Given the description of an element on the screen output the (x, y) to click on. 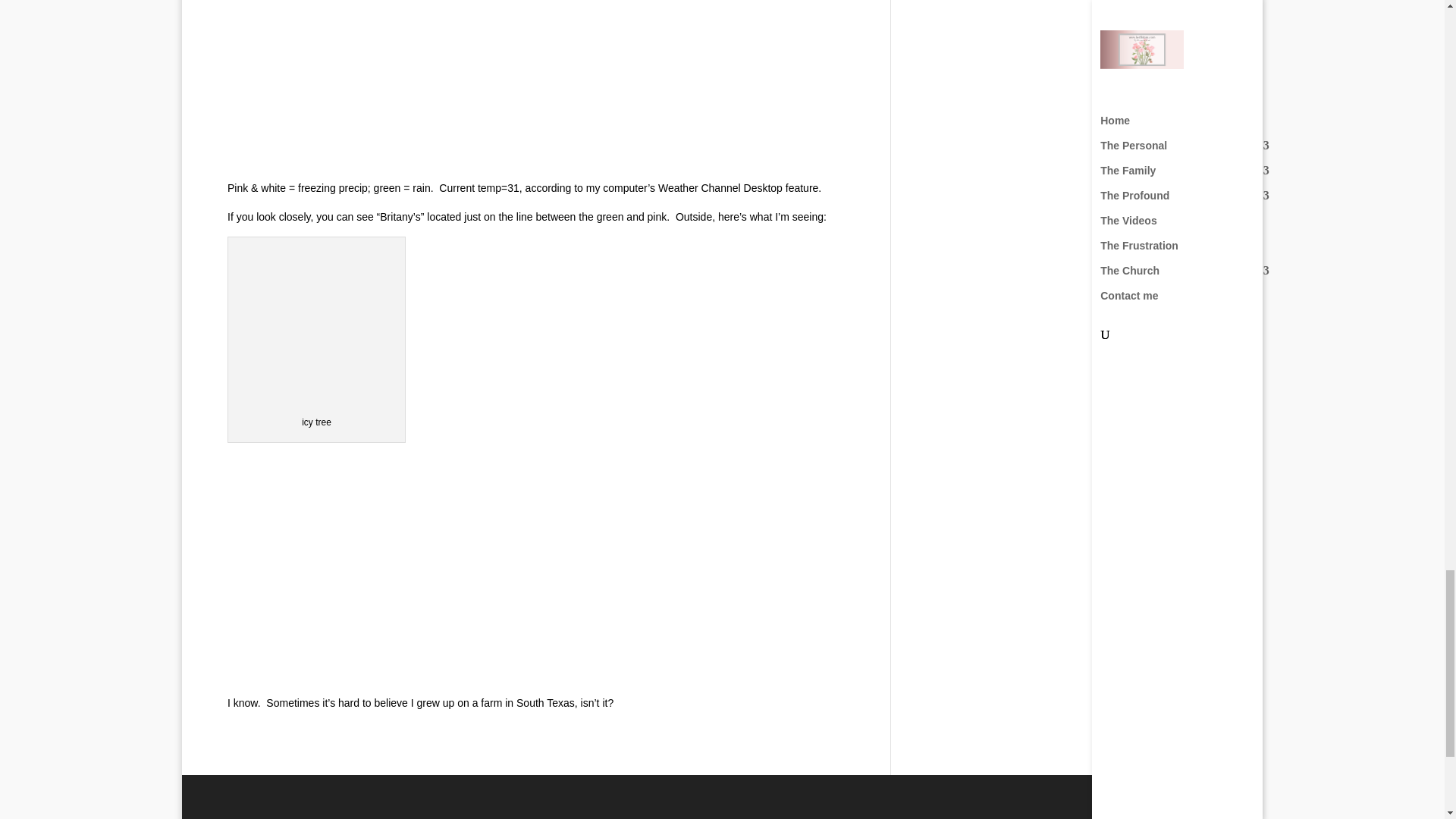
icy fence (340, 564)
icy tree (316, 325)
010509 (340, 81)
